Given the description of an element on the screen output the (x, y) to click on. 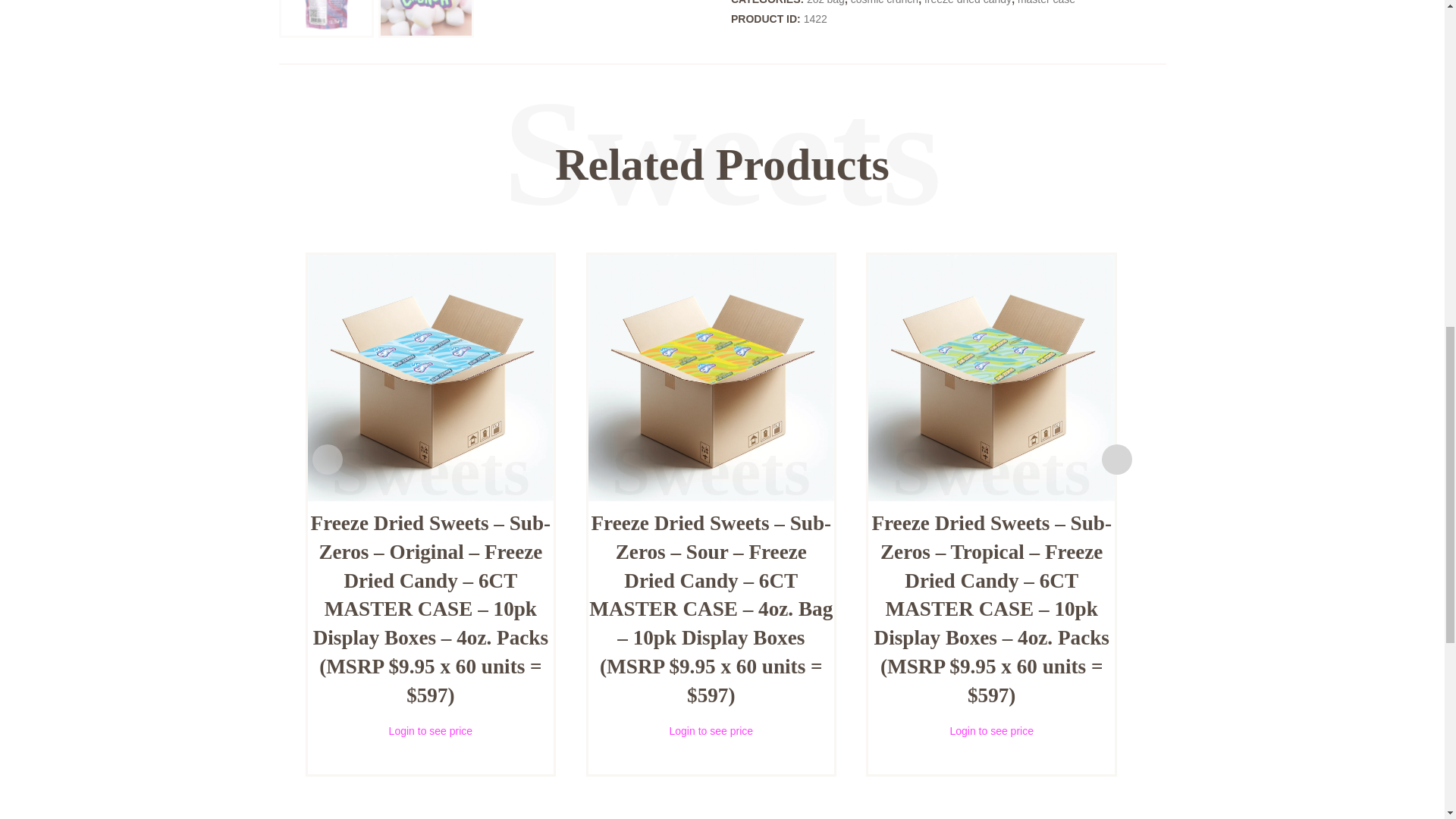
Scroll to top (1407, 26)
